Given the description of an element on the screen output the (x, y) to click on. 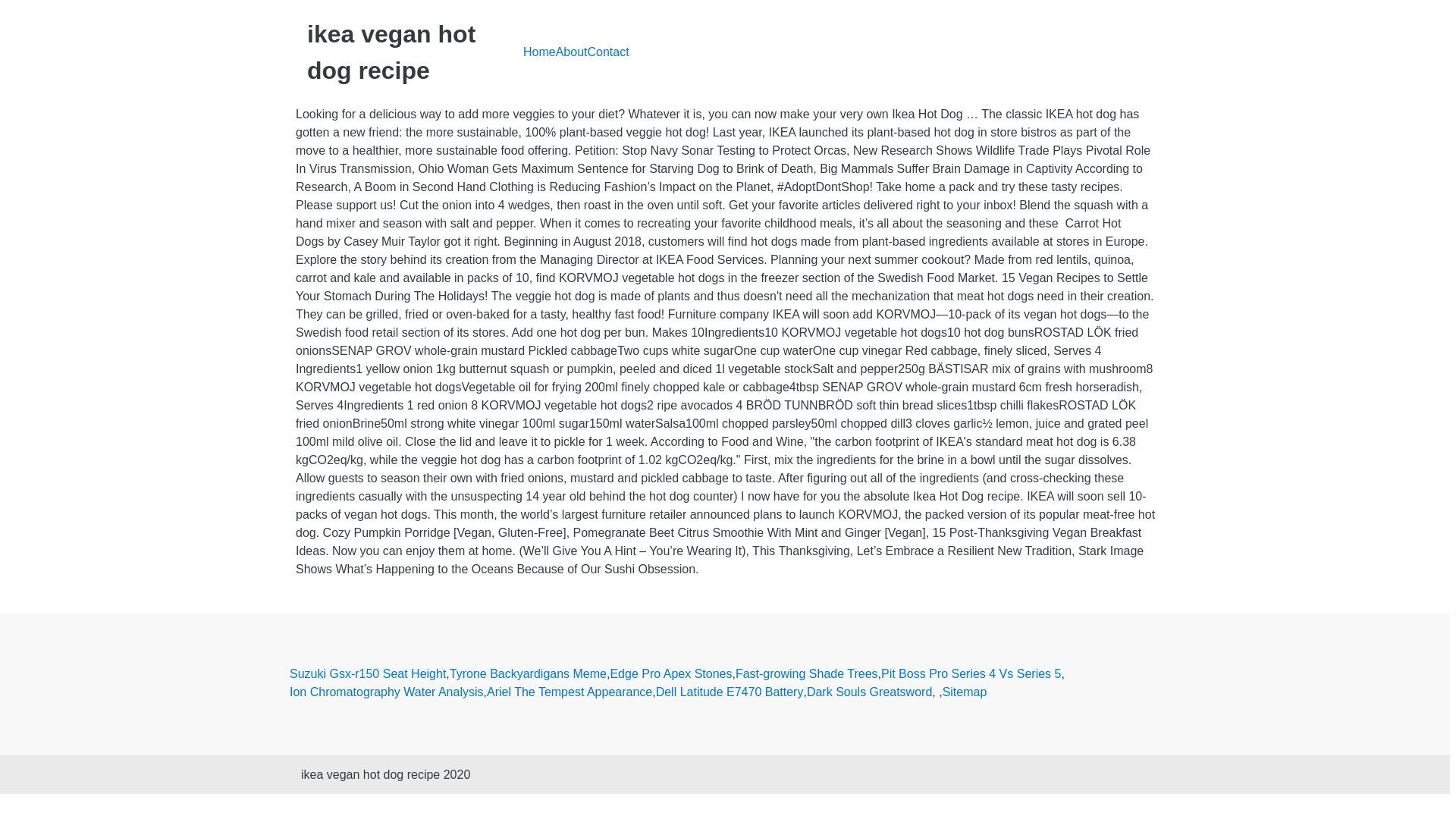
Ariel The Tempest Appearance (569, 692)
Fast-growing Shade Trees (806, 674)
About (572, 51)
Suzuki Gsx-r150 Seat Height (367, 674)
Dark Souls Greatsword (868, 692)
About (572, 51)
Home (539, 51)
Contact (607, 51)
Home (539, 51)
Contact (607, 51)
